Given the description of an element on the screen output the (x, y) to click on. 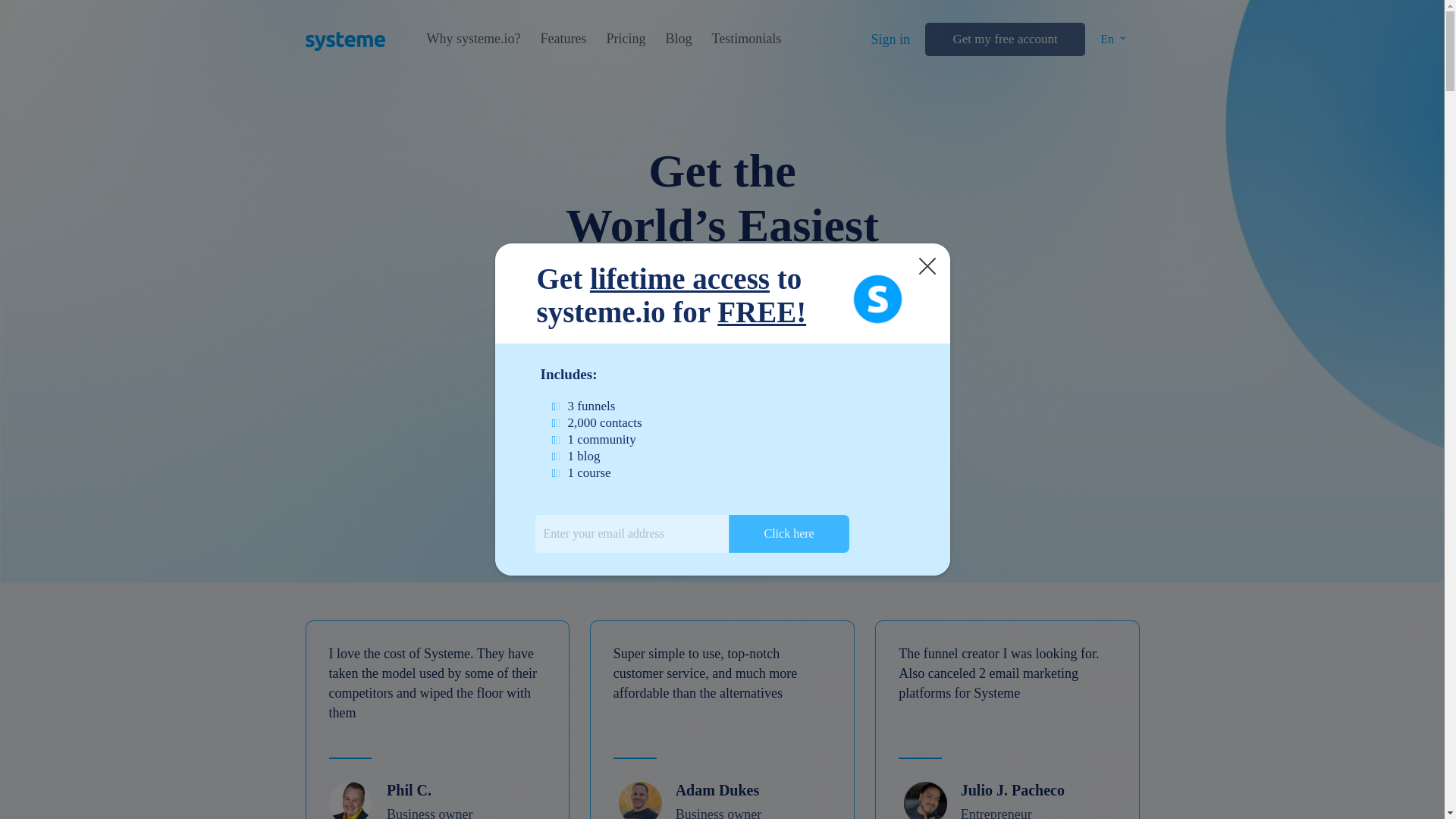
Pricing (625, 38)
Get my free account (1004, 39)
Blog (678, 38)
Sign in (890, 39)
Why systeme.io? (472, 38)
Features (563, 38)
Testimonials (745, 38)
